Given the description of an element on the screen output the (x, y) to click on. 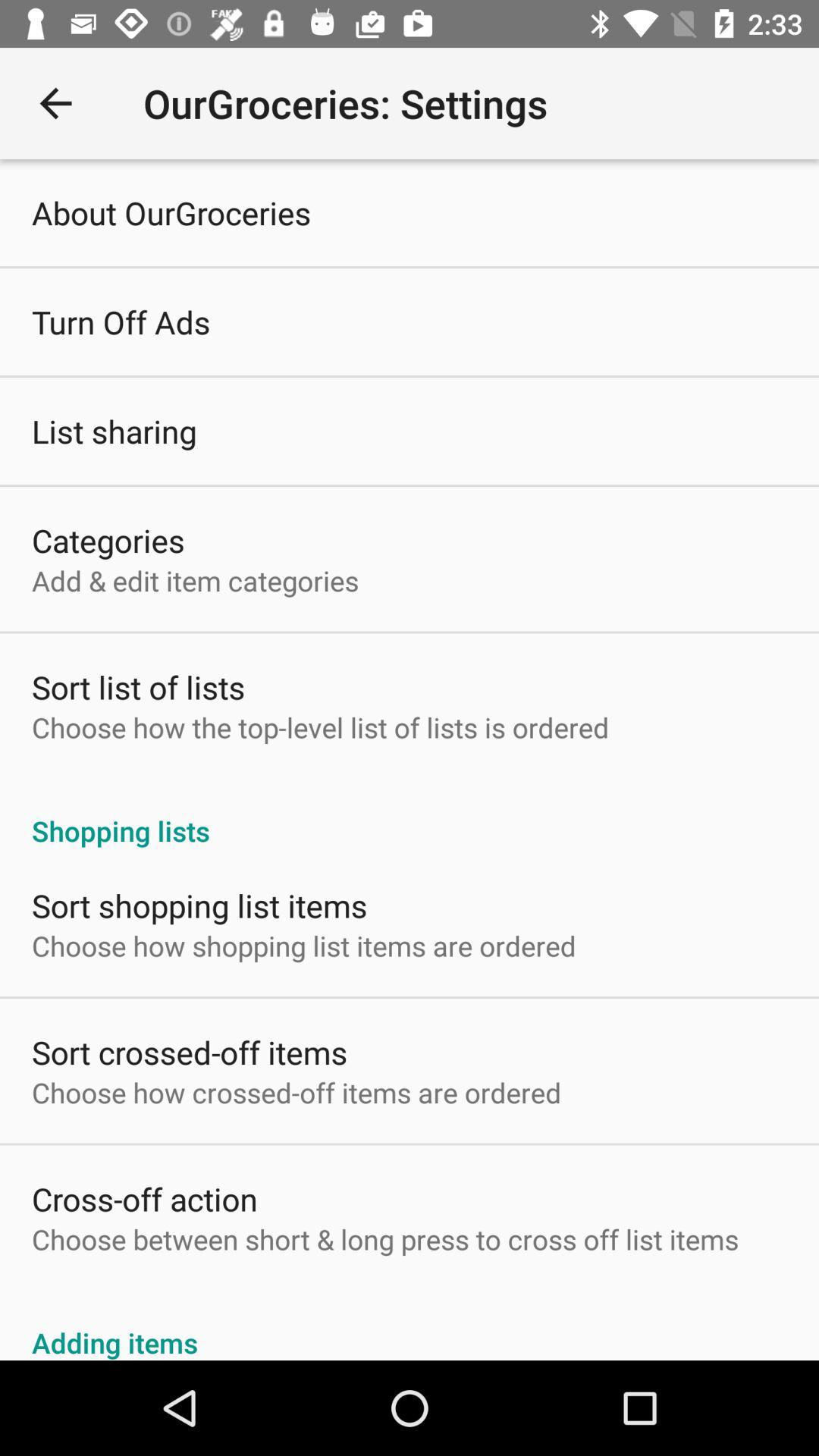
select about ourgroceries (171, 212)
